Given the description of an element on the screen output the (x, y) to click on. 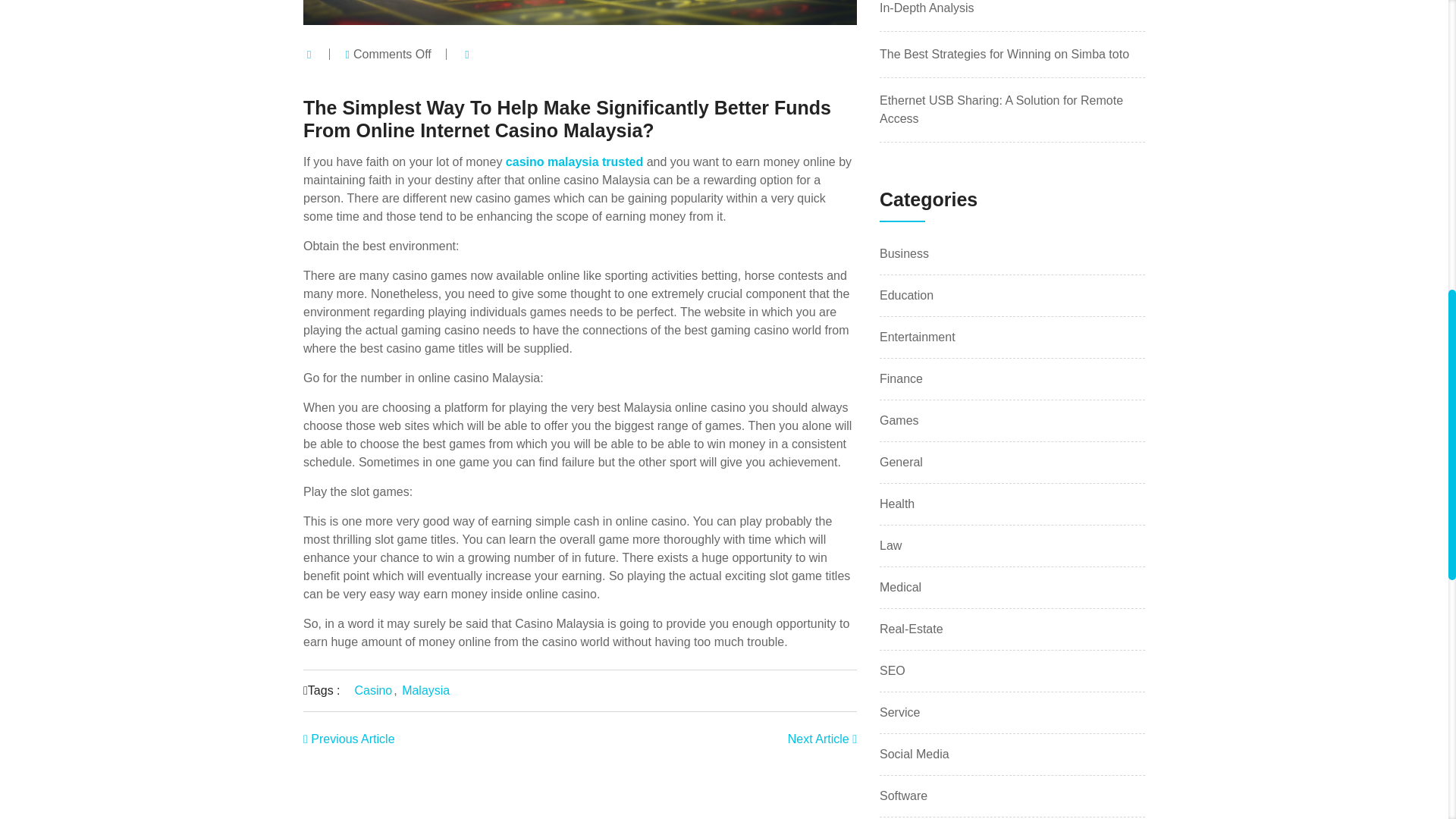
Malaysia (425, 689)
Casino (372, 689)
Education (906, 295)
casino malaysia trusted (574, 161)
Service (899, 712)
Entertainment (917, 336)
Games (898, 420)
Health (896, 503)
Social Media (914, 753)
Previous Article (348, 738)
Law (890, 545)
The Best Strategies for Winning on Simba toto (1004, 53)
Business (903, 253)
General (901, 461)
Next Article (822, 738)
